Given the description of an element on the screen output the (x, y) to click on. 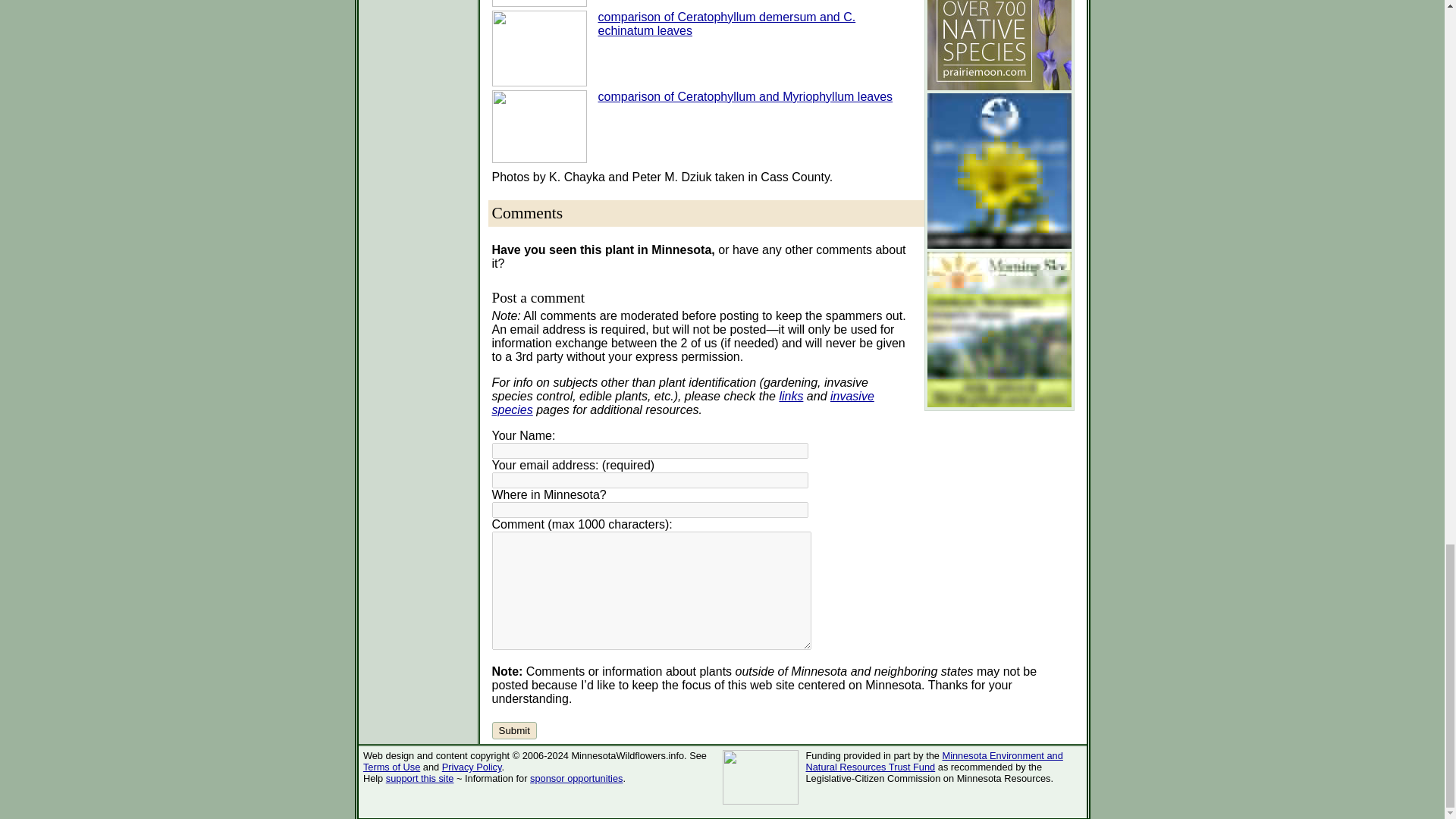
comparison of Ceratophyllum demersum and C. echinatum leaves (726, 23)
invasive species (682, 402)
Submit (513, 730)
Submit (513, 730)
comparison of Ceratophyllum and Myriophyllum leaves (744, 95)
links (790, 395)
